Given the description of an element on the screen output the (x, y) to click on. 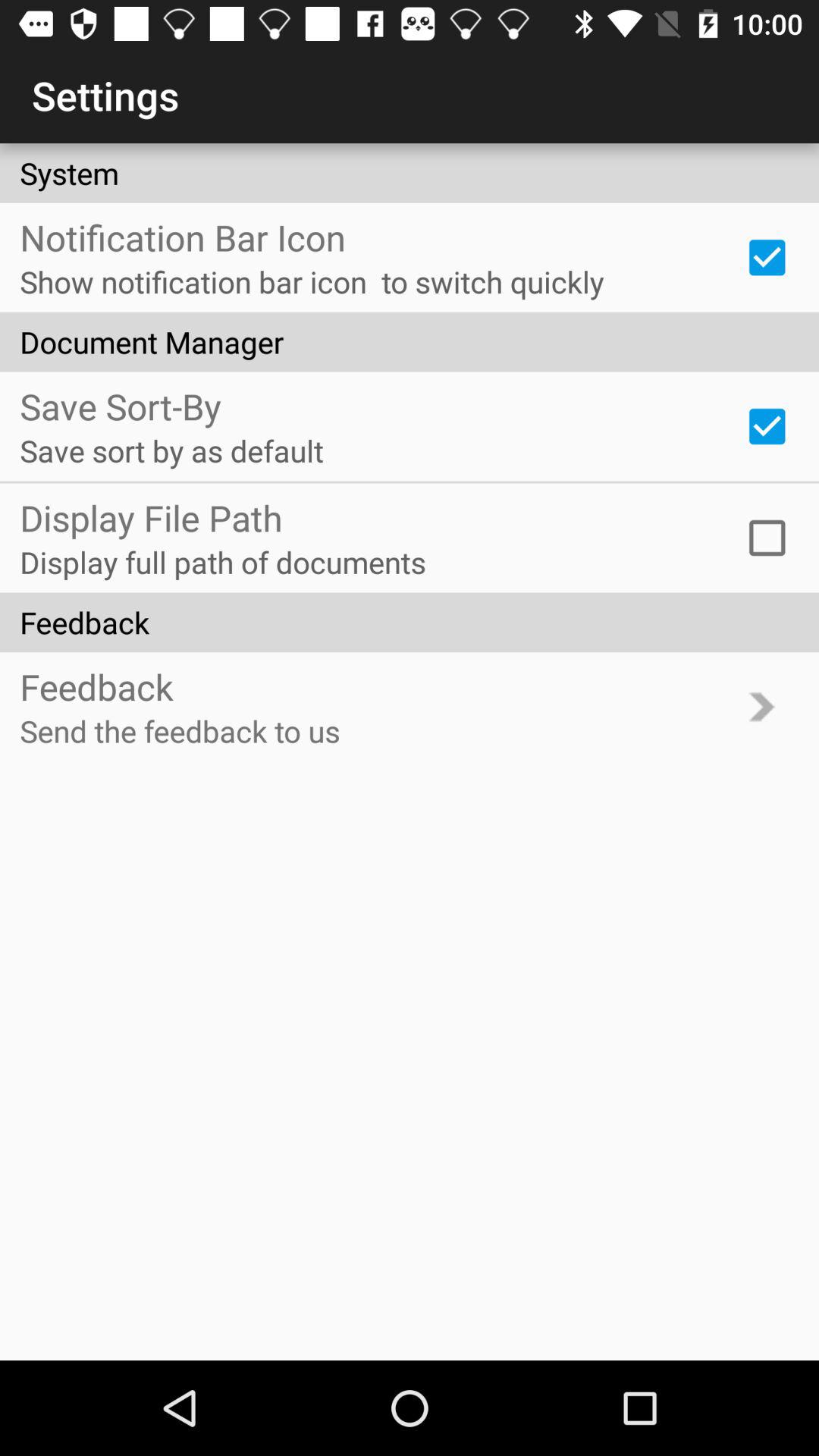
choose item to the right of save sort by icon (767, 426)
